Given the description of an element on the screen output the (x, y) to click on. 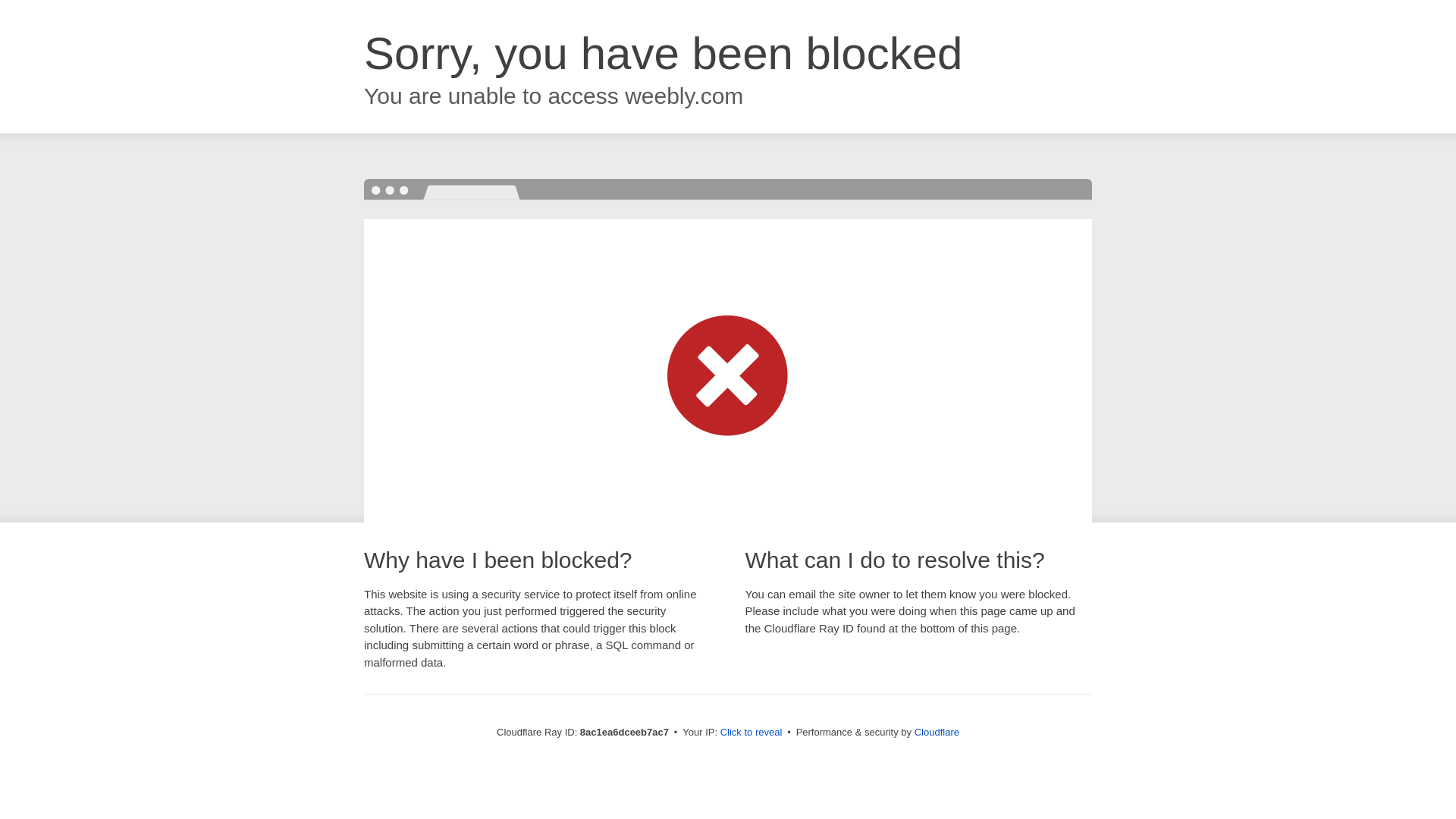
Cloudflare (936, 731)
Click to reveal (751, 732)
